Given the description of an element on the screen output the (x, y) to click on. 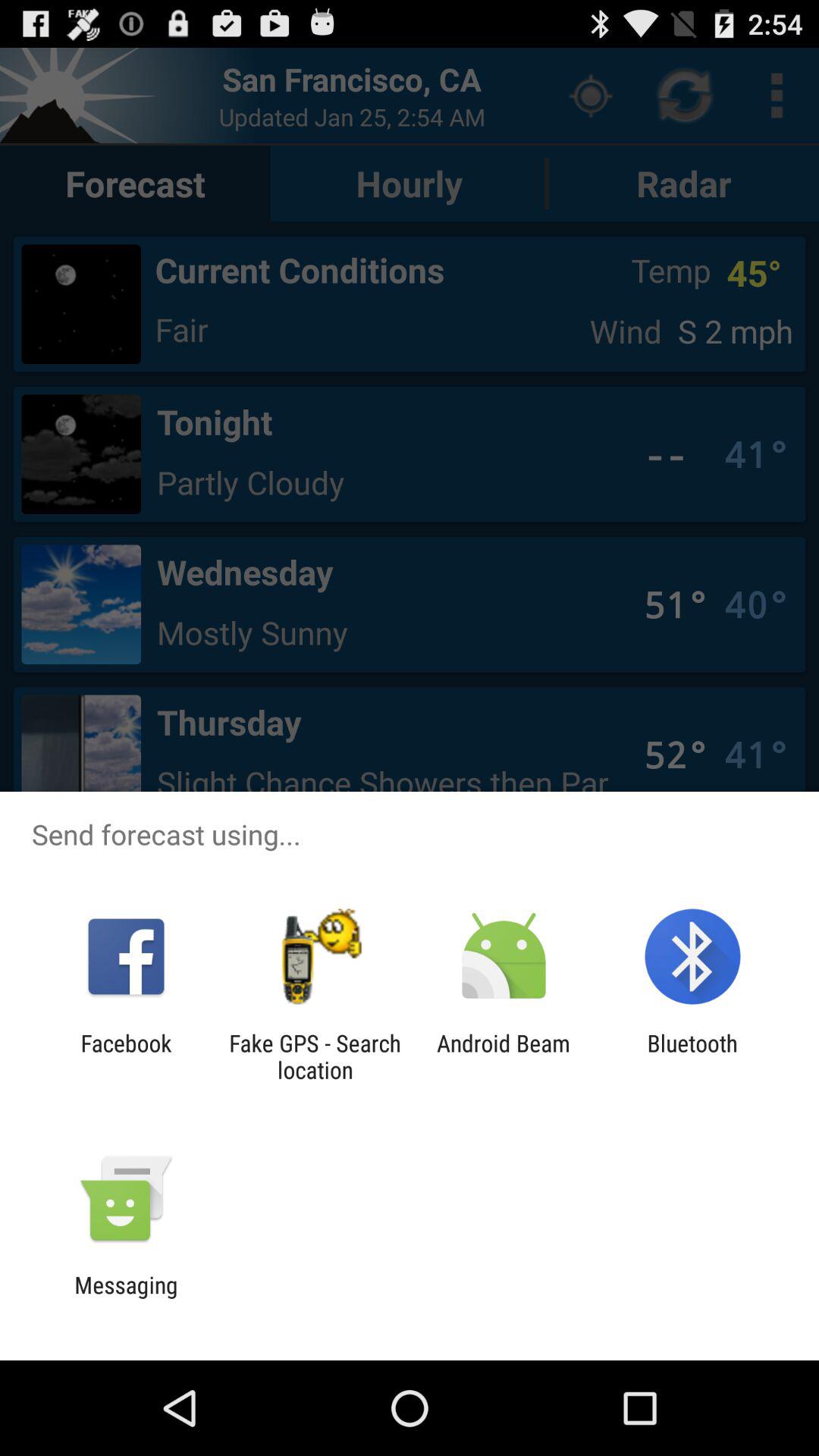
tap the icon to the right of the facebook item (314, 1056)
